Given the description of an element on the screen output the (x, y) to click on. 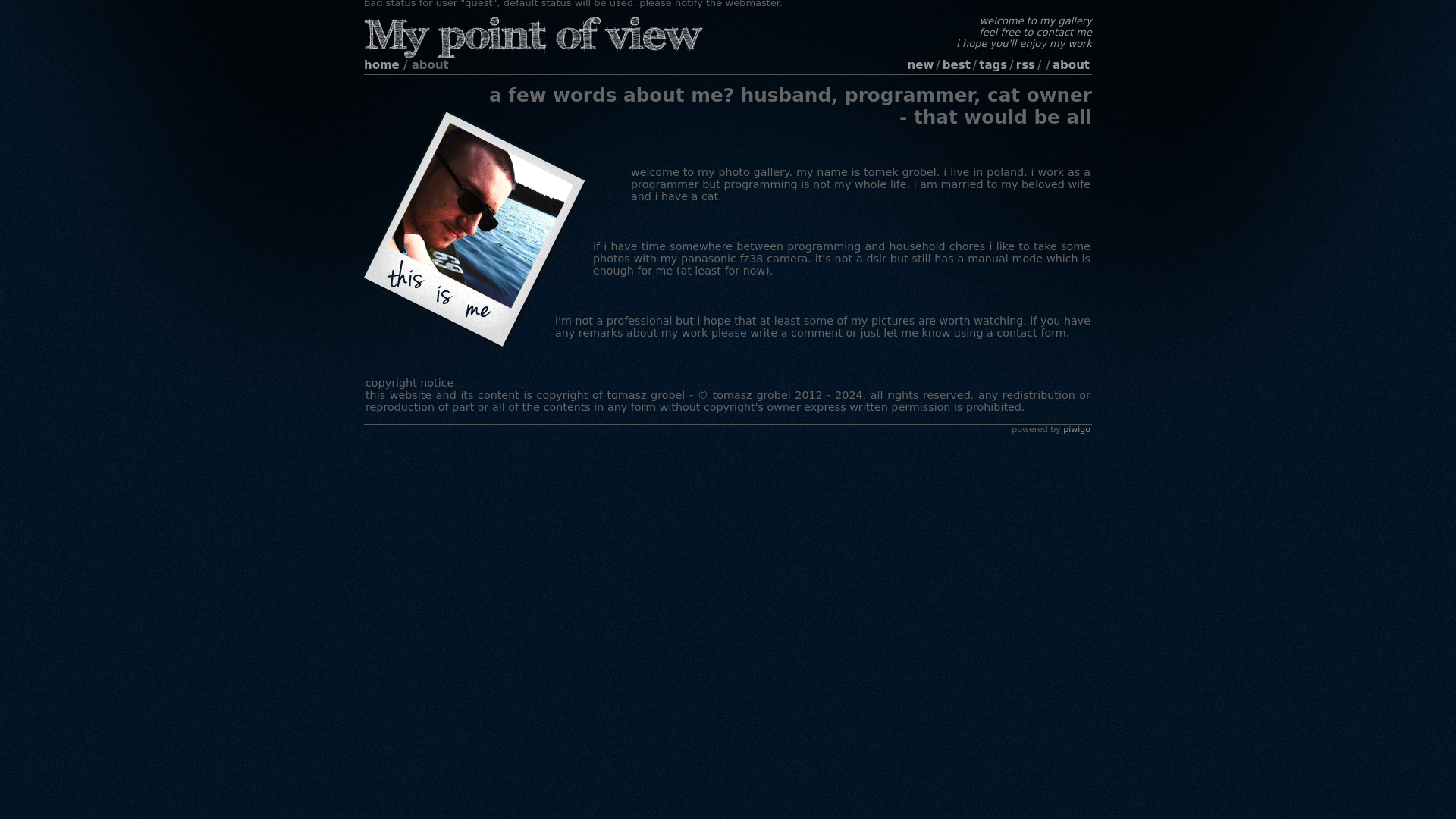
new (920, 65)
home (381, 65)
about (1070, 65)
rss feed (1025, 65)
piwigo (1076, 429)
tags (992, 65)
about me (1070, 65)
best (956, 65)
rss (1025, 65)
display best rated photos (956, 65)
display available tags (992, 65)
display most recent photos (920, 65)
